Given the description of an element on the screen output the (x, y) to click on. 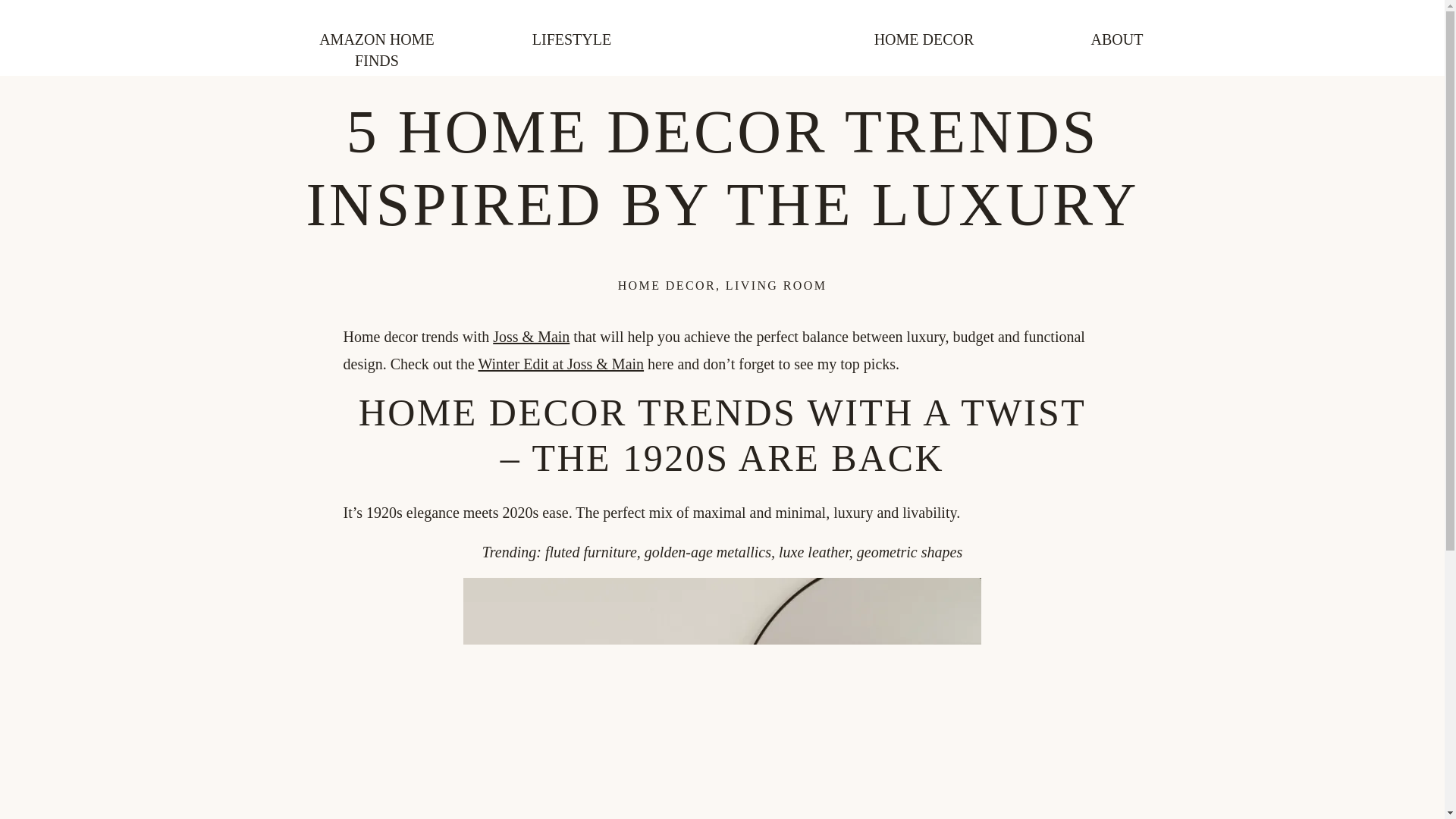
HOME DECOR (666, 285)
LIFESTYLE (571, 37)
ABOUT (1116, 37)
AMAZON HOME FINDS (376, 37)
LIVING ROOM (776, 285)
